Given the description of an element on the screen output the (x, y) to click on. 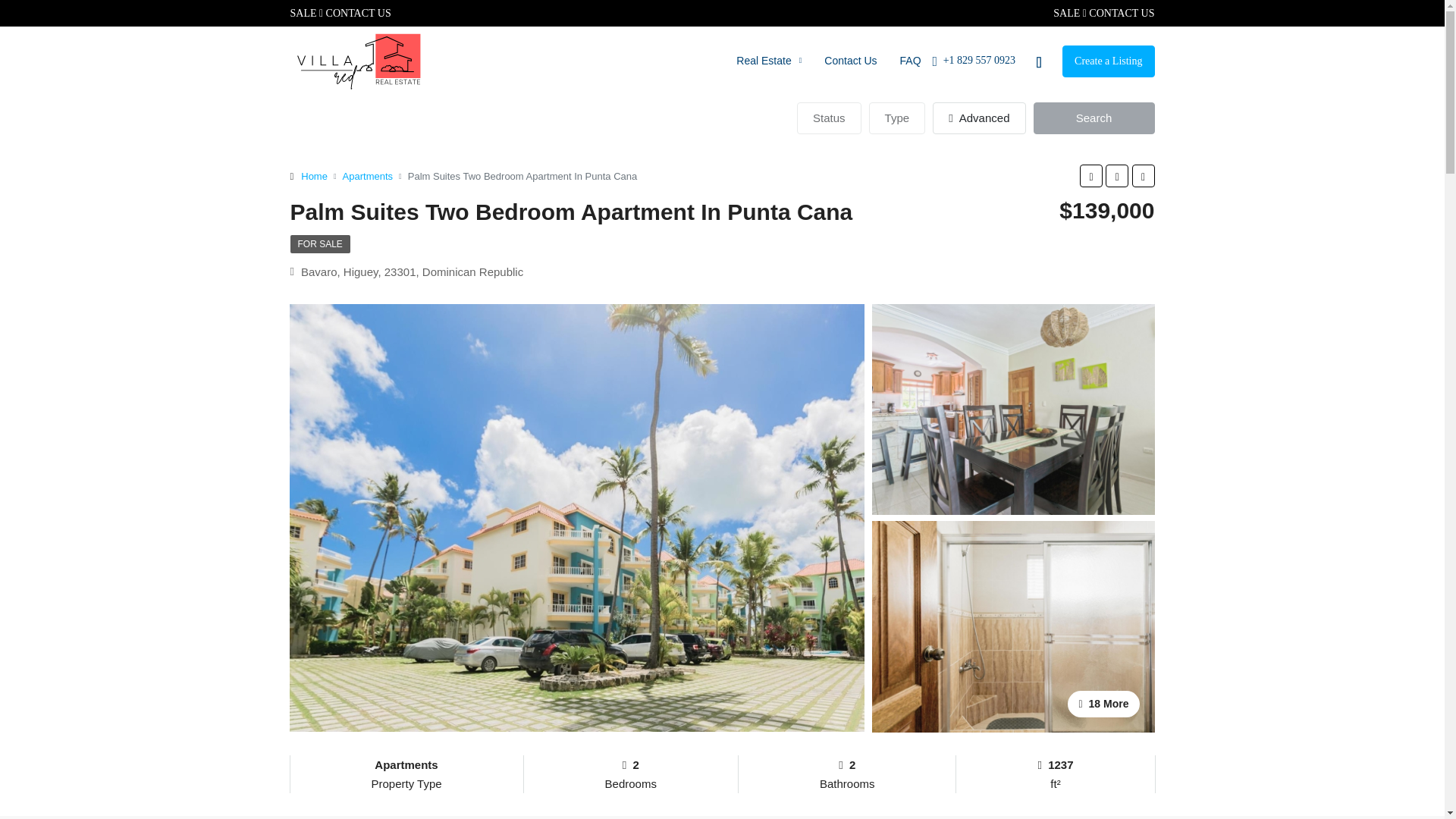
Real Estate (768, 60)
Advanced (979, 118)
Create a Listing (1108, 60)
Contact Us (850, 60)
Search (1093, 118)
Status (828, 118)
Type (897, 118)
